Given the description of an element on the screen output the (x, y) to click on. 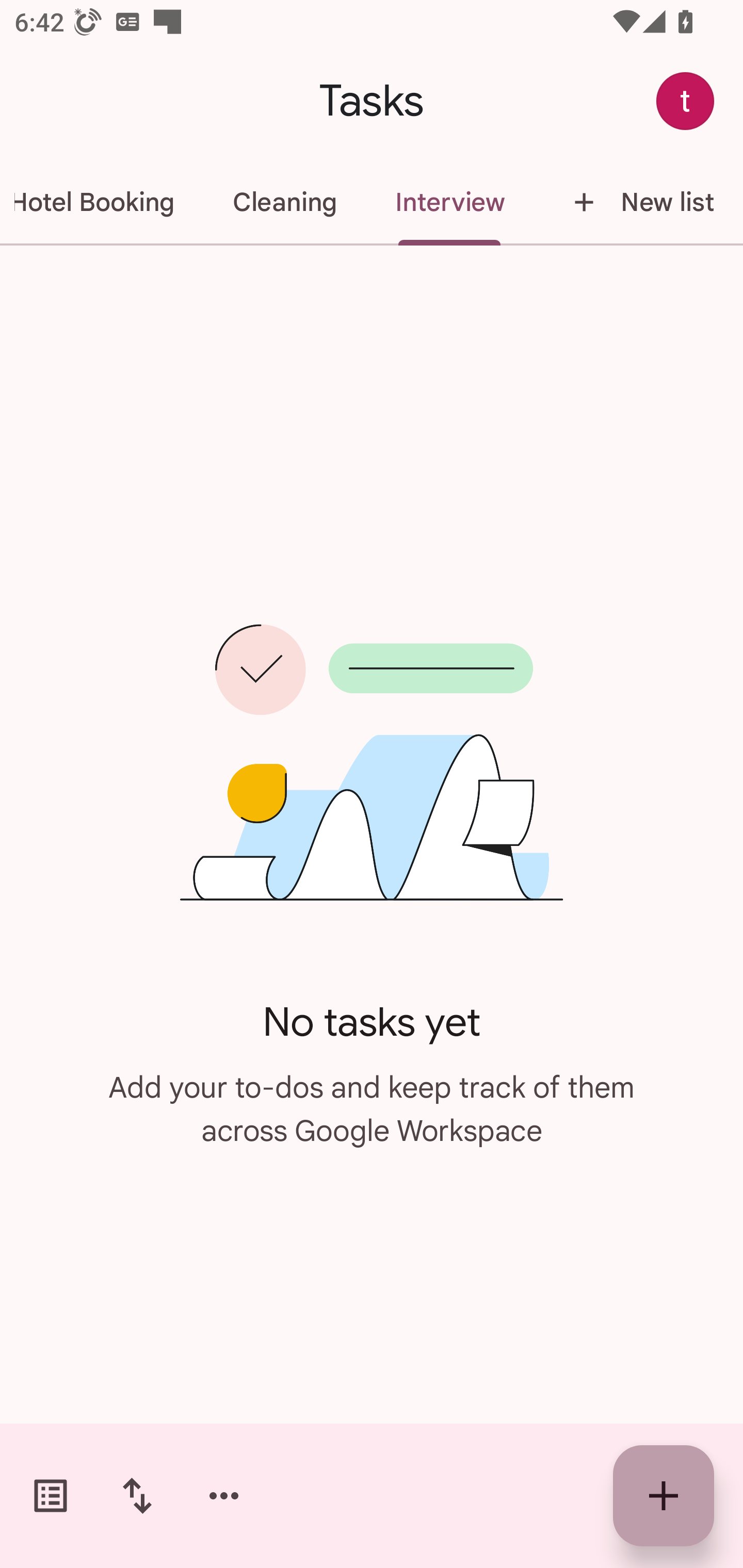
Hotel Booking (101, 202)
Cleaning (284, 202)
New list (638, 202)
Switch task lists (50, 1495)
Create new task (663, 1495)
Change sort order (136, 1495)
More options (223, 1495)
